Given the description of an element on the screen output the (x, y) to click on. 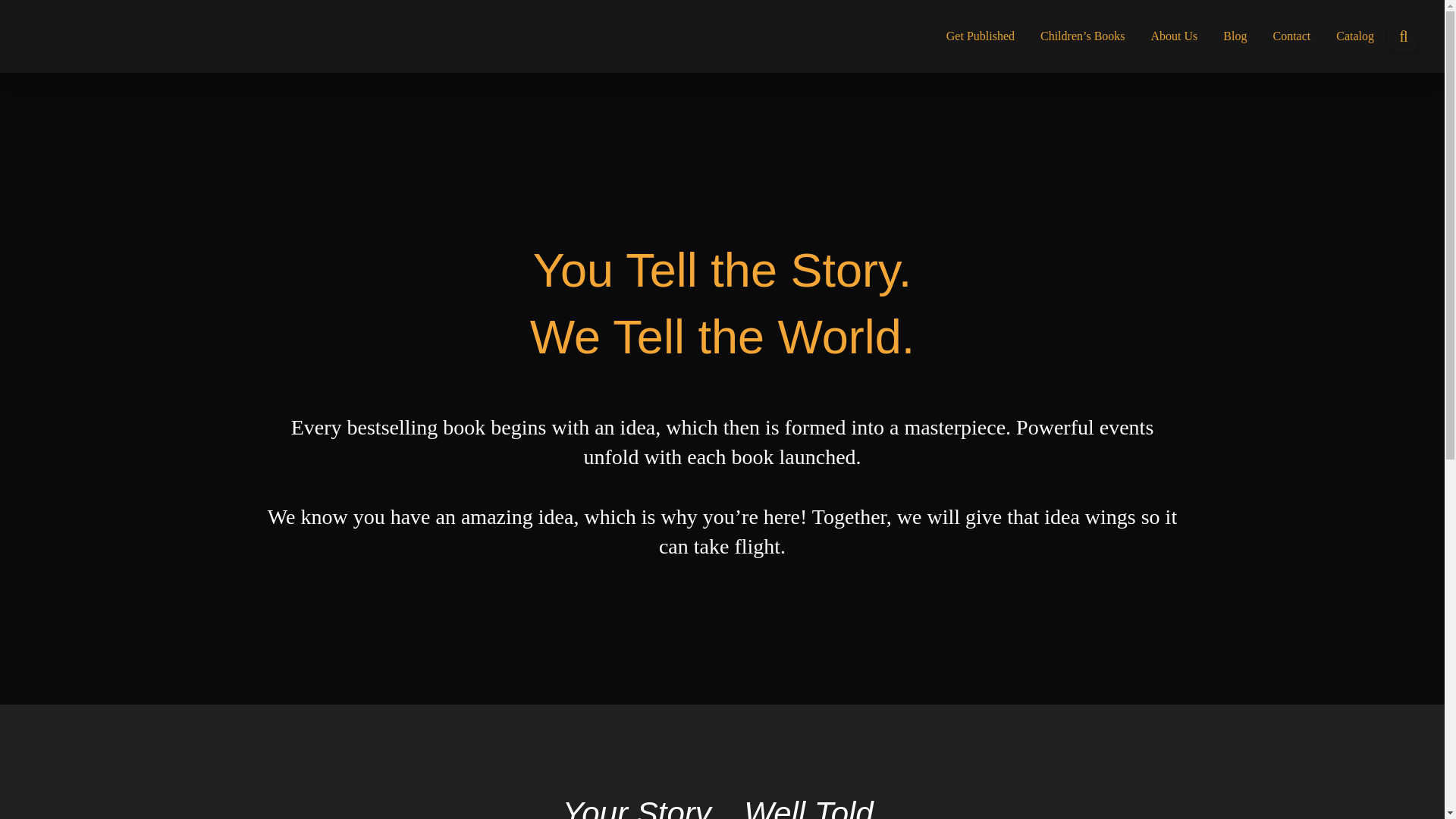
Contact (1291, 36)
About Us (1174, 36)
Blog (1234, 36)
Get Published (980, 36)
Catalog (1355, 36)
